Given the description of an element on the screen output the (x, y) to click on. 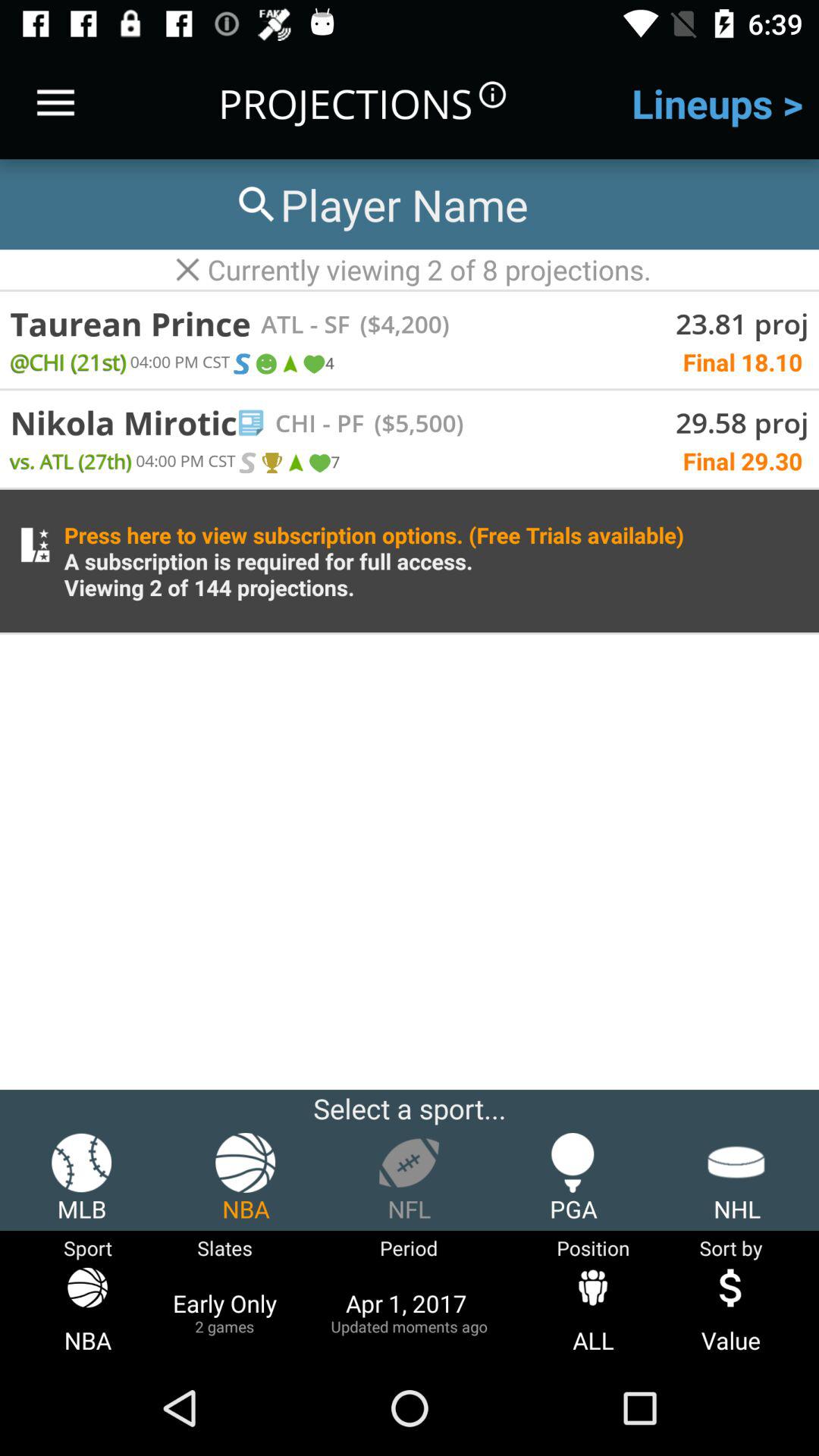
flip to the pga item (573, 1178)
